Given the description of an element on the screen output the (x, y) to click on. 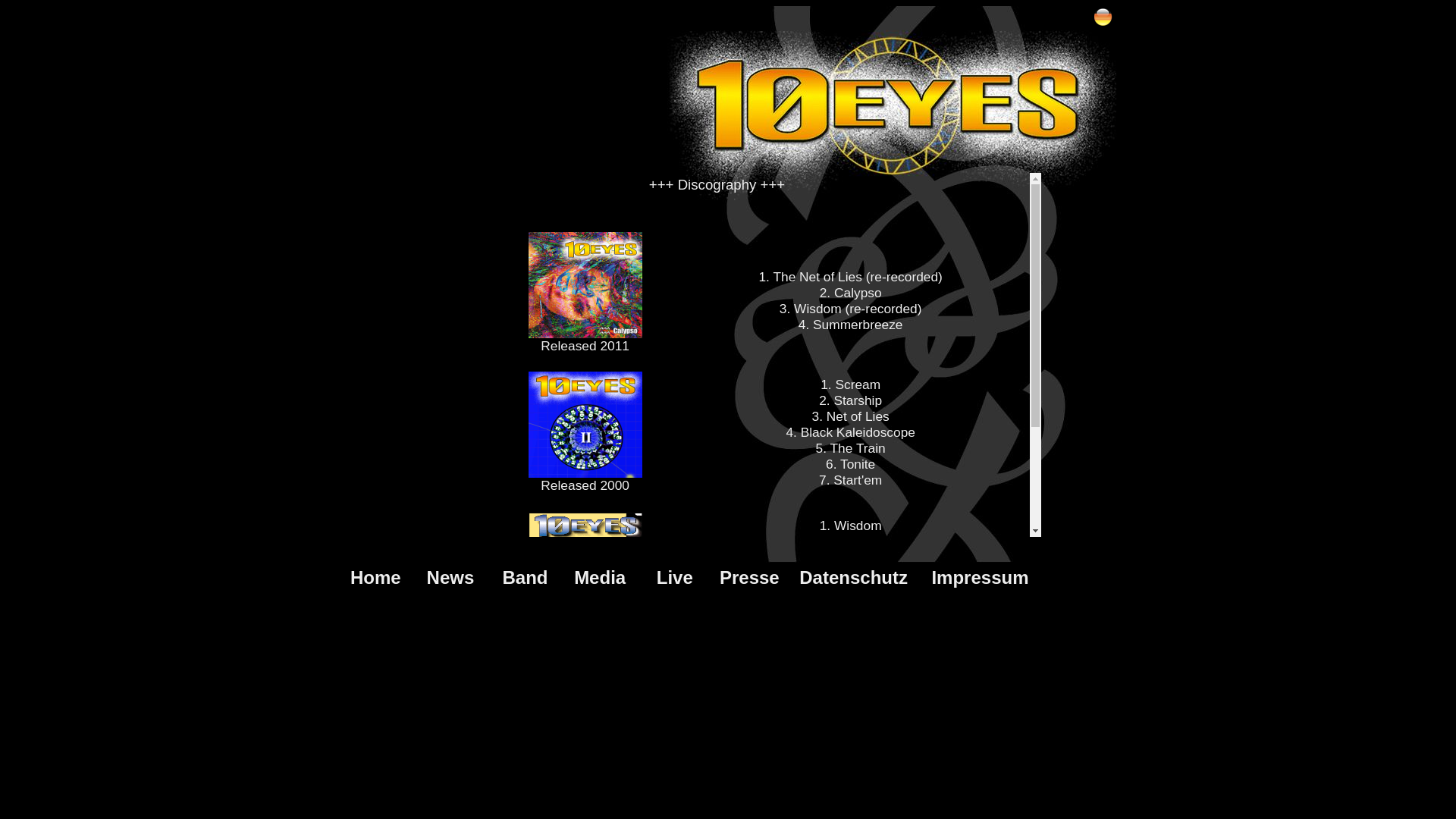
Live Element type: text (674, 577)
Home Element type: text (375, 577)
Presse Element type: text (749, 577)
Media Element type: text (599, 577)
Impressum Element type: text (979, 577)
Band Element type: text (525, 577)
Datenschutz Element type: text (853, 577)
News Element type: text (450, 577)
10EYES - Deutsch Element type: hover (1101, 16)
